Given the description of an element on the screen output the (x, y) to click on. 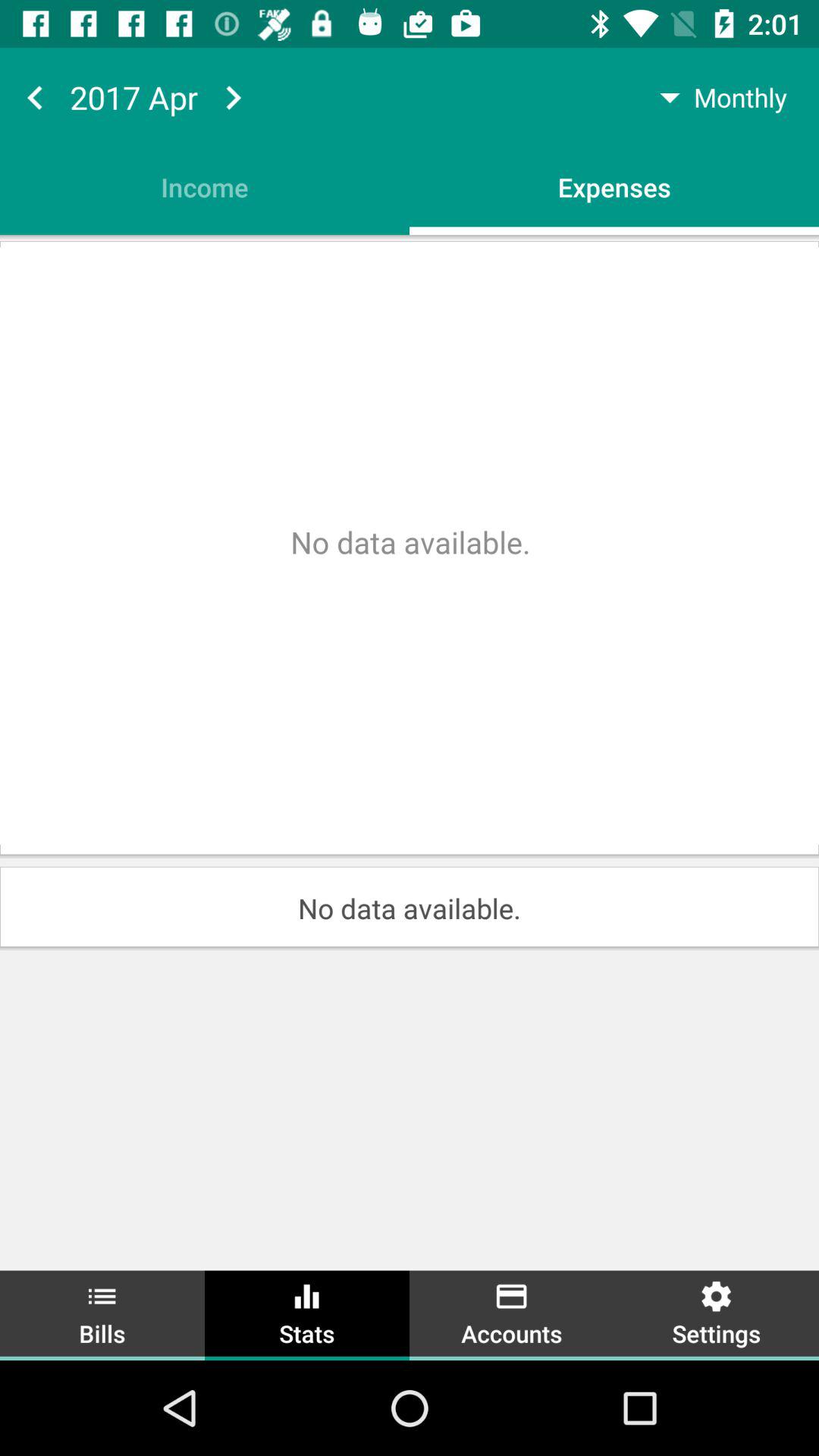
click the button to go to the next page (232, 97)
